Given the description of an element on the screen output the (x, y) to click on. 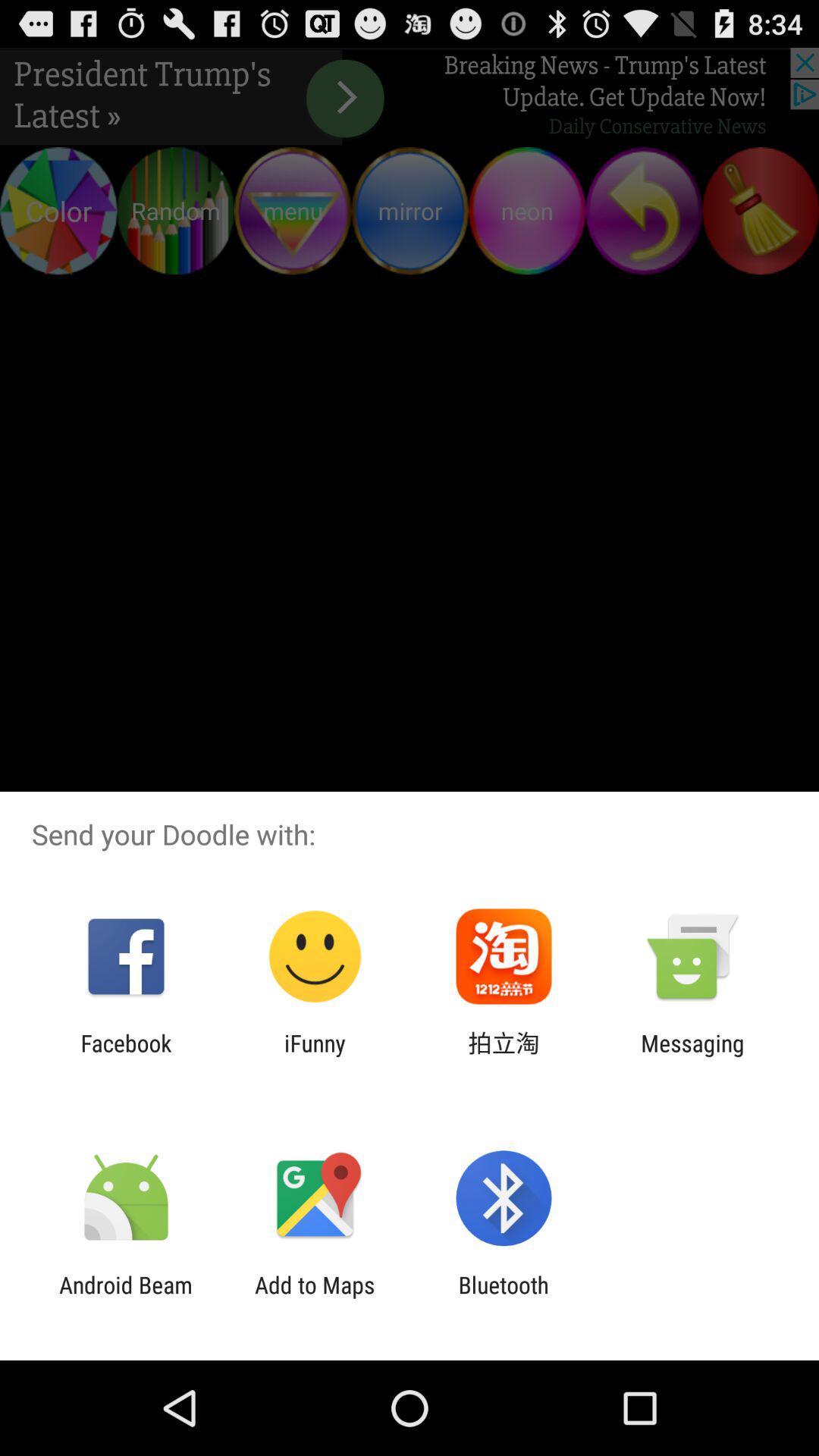
select the item next to the add to maps item (503, 1298)
